Given the description of an element on the screen output the (x, y) to click on. 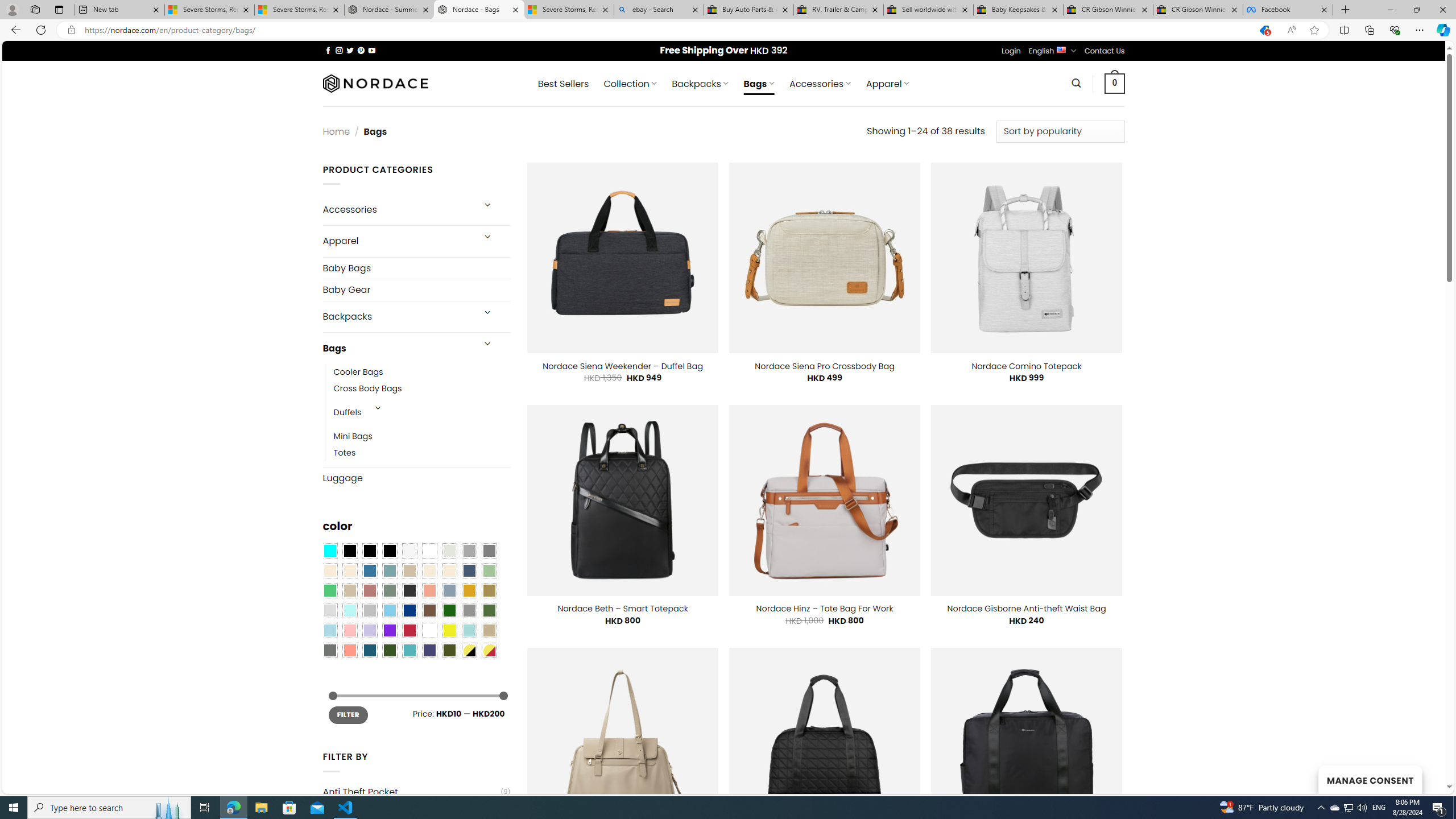
Teal (408, 649)
Shop order (1060, 131)
Aqua (468, 630)
Nordace Siena Pro Crossbody Bag (823, 365)
Gold (468, 590)
Anti Theft Pocket(9) (416, 791)
Gray (468, 610)
Charcoal (408, 590)
Blue (369, 570)
Pearly White (408, 550)
MANAGE CONSENT (1369, 779)
